Given the description of an element on the screen output the (x, y) to click on. 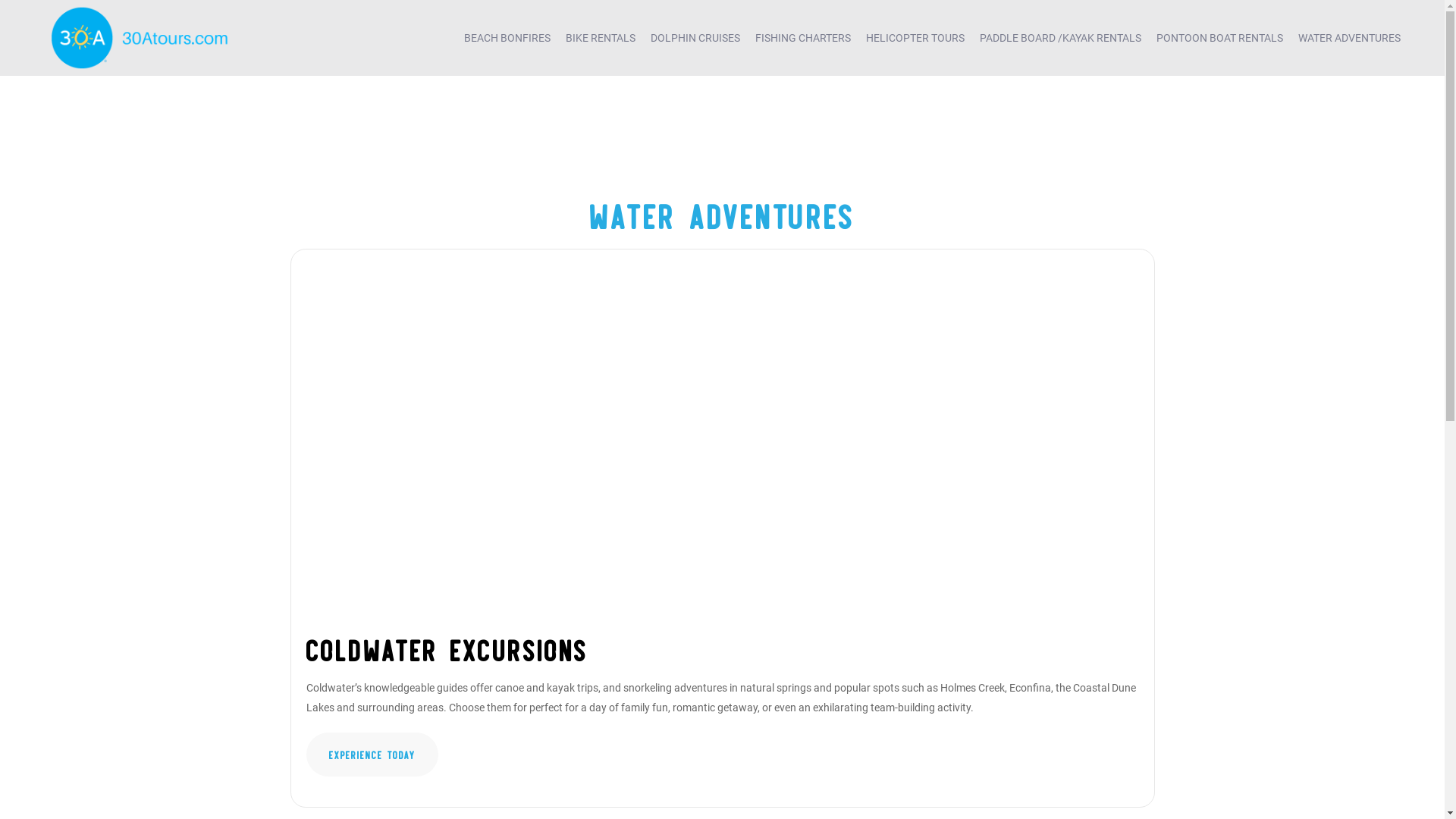
WATER ADVENTURES Element type: text (1349, 37)
PONTOON BOAT RENTALS Element type: text (1219, 37)
Experience Today Element type: text (372, 754)
PADDLE BOARD /KAYAK RENTALS Element type: text (1060, 37)
DOLPHIN CRUISES Element type: text (695, 37)
BIKE RENTALS Element type: text (600, 37)
BEACH BONFIRES Element type: text (507, 37)
FISHING CHARTERS Element type: text (802, 37)
HELICOPTER TOURS Element type: text (915, 37)
